Given the description of an element on the screen output the (x, y) to click on. 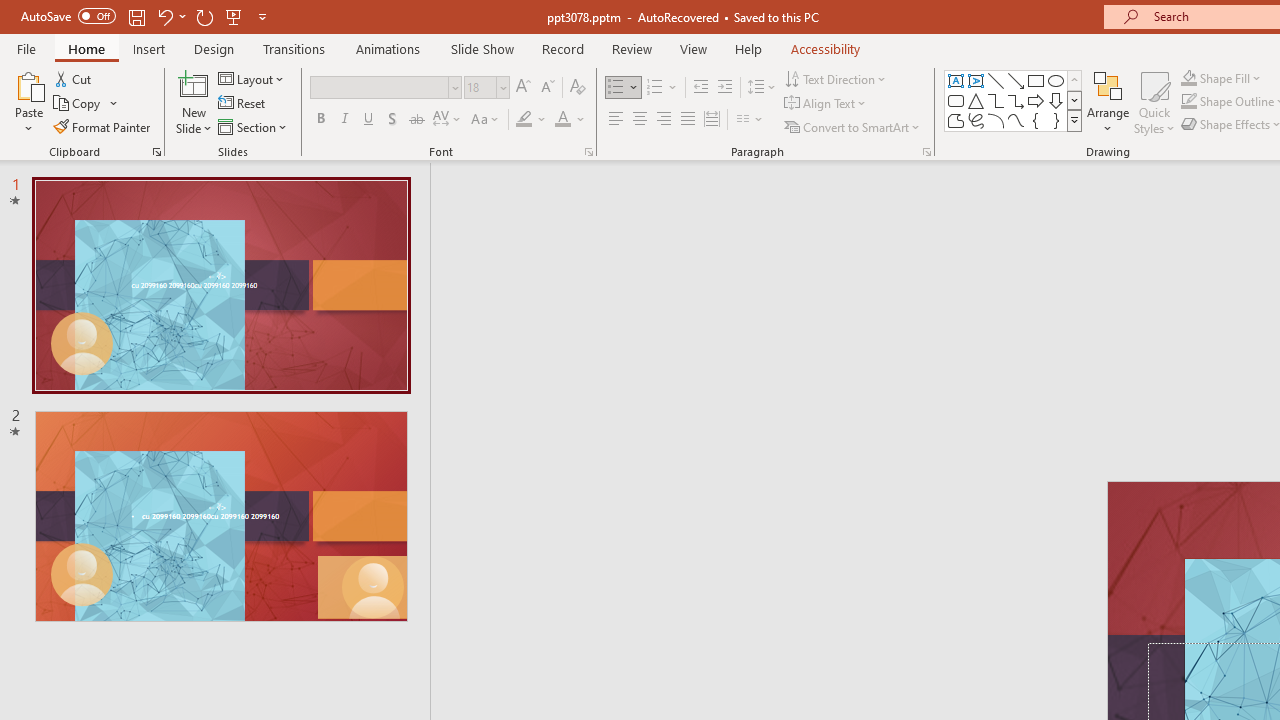
Columns (750, 119)
Shape Fill Dark Green, Accent 2 (1188, 78)
Freeform: Shape (955, 120)
